Given the description of an element on the screen output the (x, y) to click on. 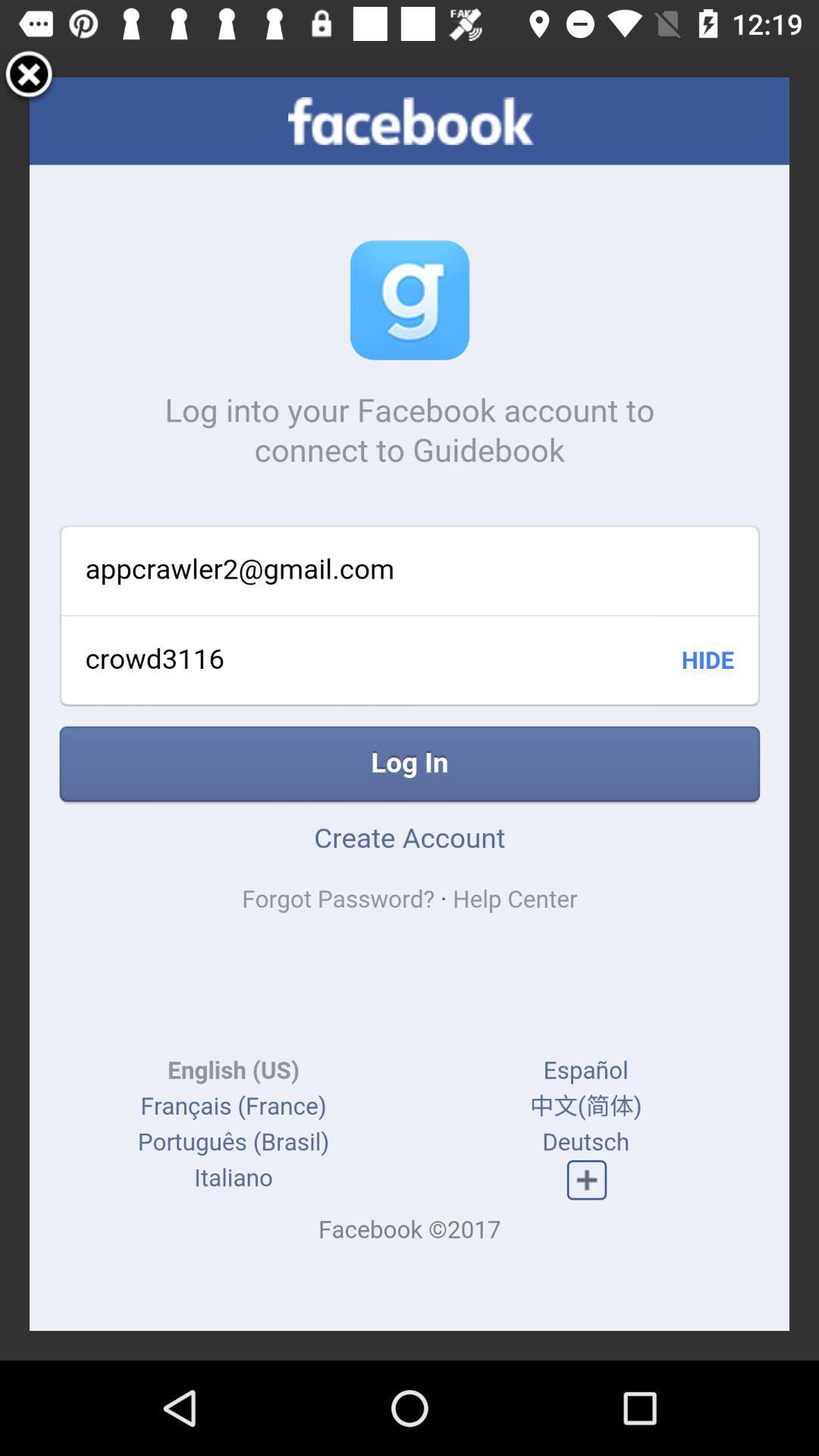
exit element (29, 76)
